Given the description of an element on the screen output the (x, y) to click on. 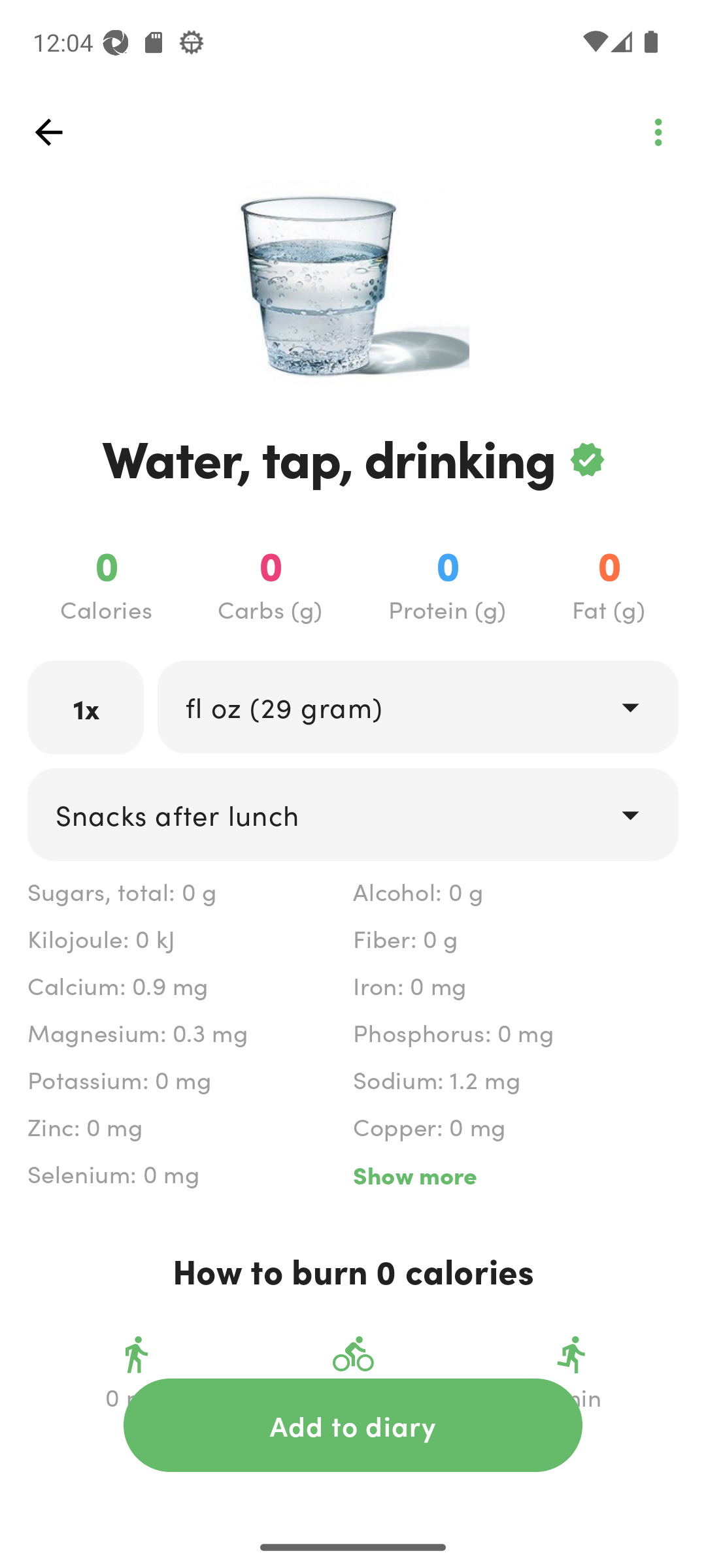
top_left_action (48, 132)
top_left_action (658, 132)
1x labeled_edit_text (85, 707)
drop_down fl oz (29 gram) (417, 706)
drop_down Snacks after lunch (352, 814)
Show more (515, 1174)
action_button Add to diary (352, 1425)
